Given the description of an element on the screen output the (x, y) to click on. 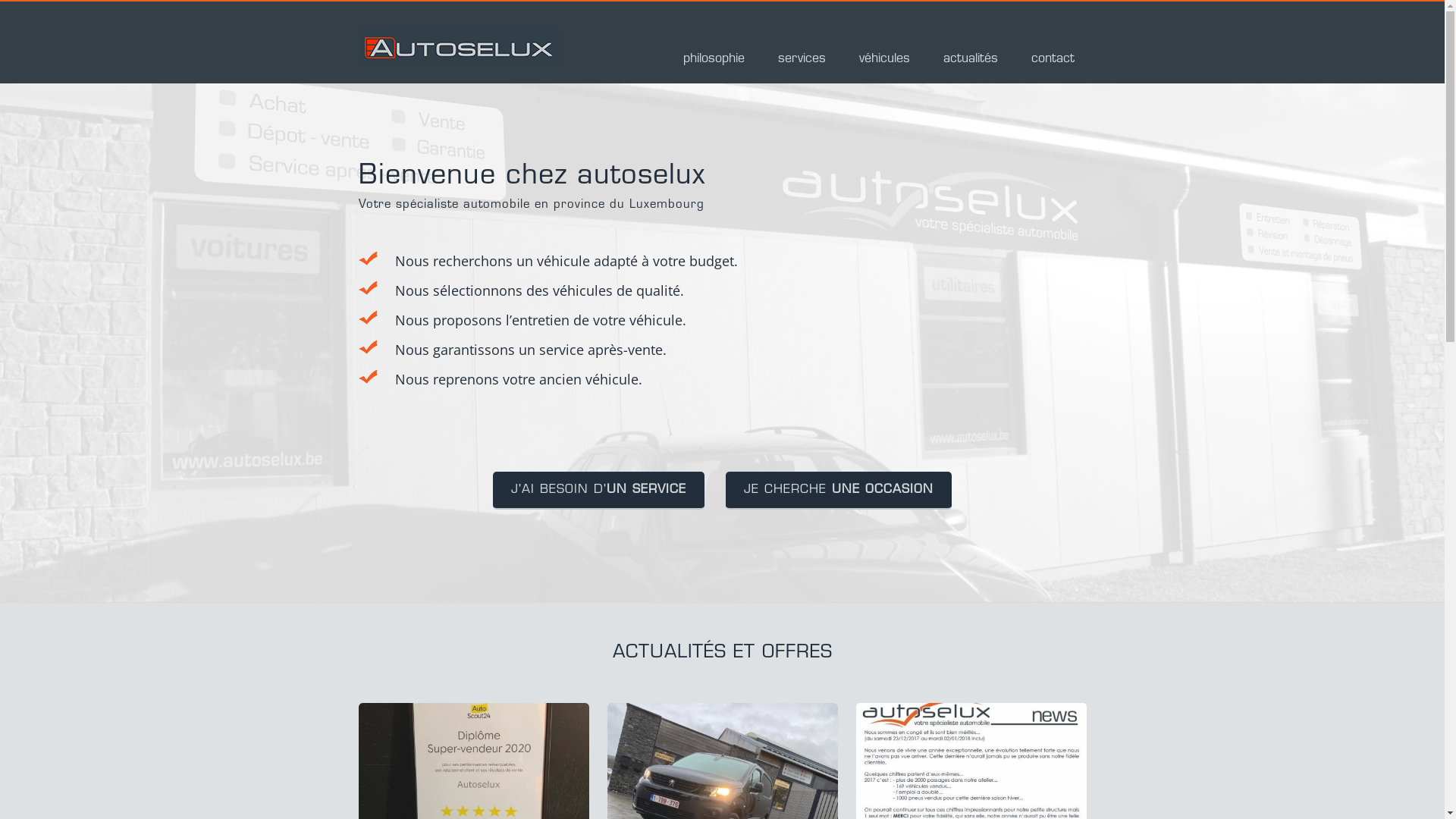
JE CHERCHE UNE OCCASION Element type: text (838, 490)
philosophie Element type: text (713, 61)
services Element type: text (801, 61)
contact Element type: text (1052, 61)
J'AI BESOIN D'UN SERVICE Element type: text (598, 490)
AUTOSELUX Element type: text (458, 55)
